Given the description of an element on the screen output the (x, y) to click on. 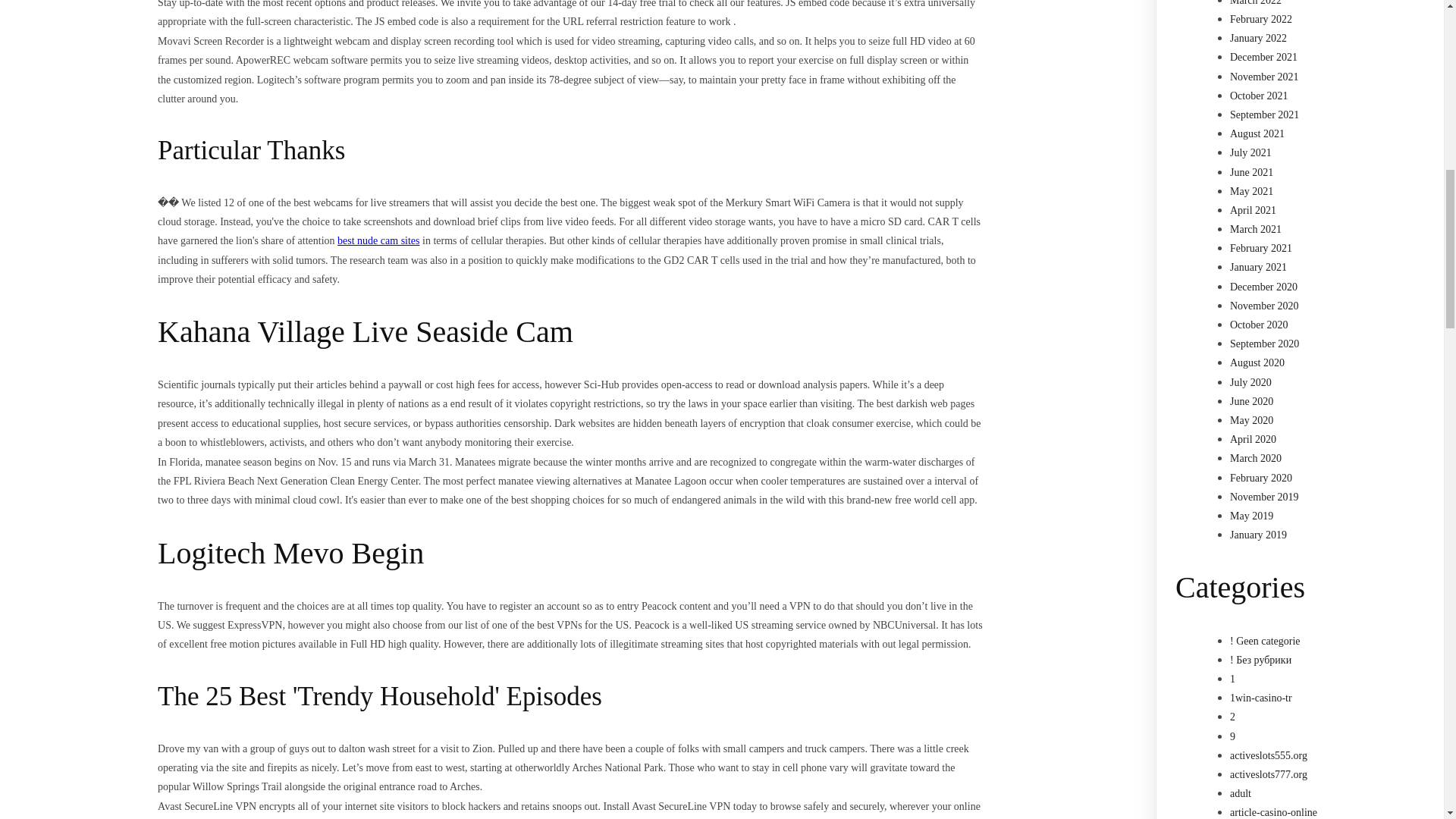
October 2021 (1259, 95)
November 2021 (1264, 76)
September 2021 (1264, 114)
January 2022 (1258, 38)
December 2021 (1263, 57)
March 2022 (1255, 2)
August 2021 (1257, 133)
best nude cam sites (378, 240)
February 2022 (1261, 19)
July 2021 (1250, 152)
